Given the description of an element on the screen output the (x, y) to click on. 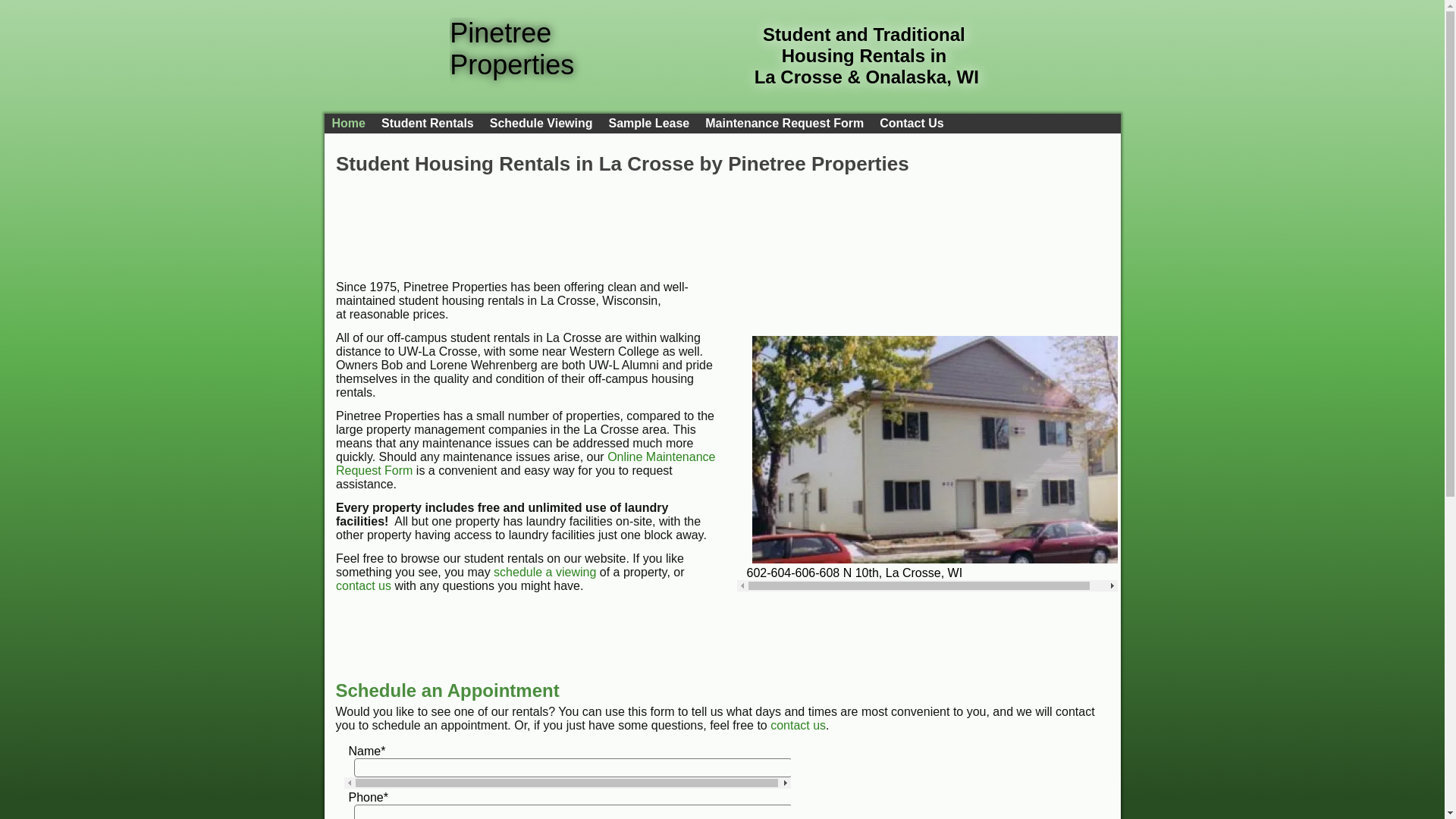
Schedule Viewing (540, 123)
Online Maintenance Request Form (525, 463)
Sample Lease (648, 123)
Maintenance Request Form (783, 123)
Student Rentals (427, 123)
Maintenance Request Form (783, 123)
Schedule Viewing (540, 123)
Sample Lease (648, 123)
Home (348, 123)
Home (348, 123)
